Given the description of an element on the screen output the (x, y) to click on. 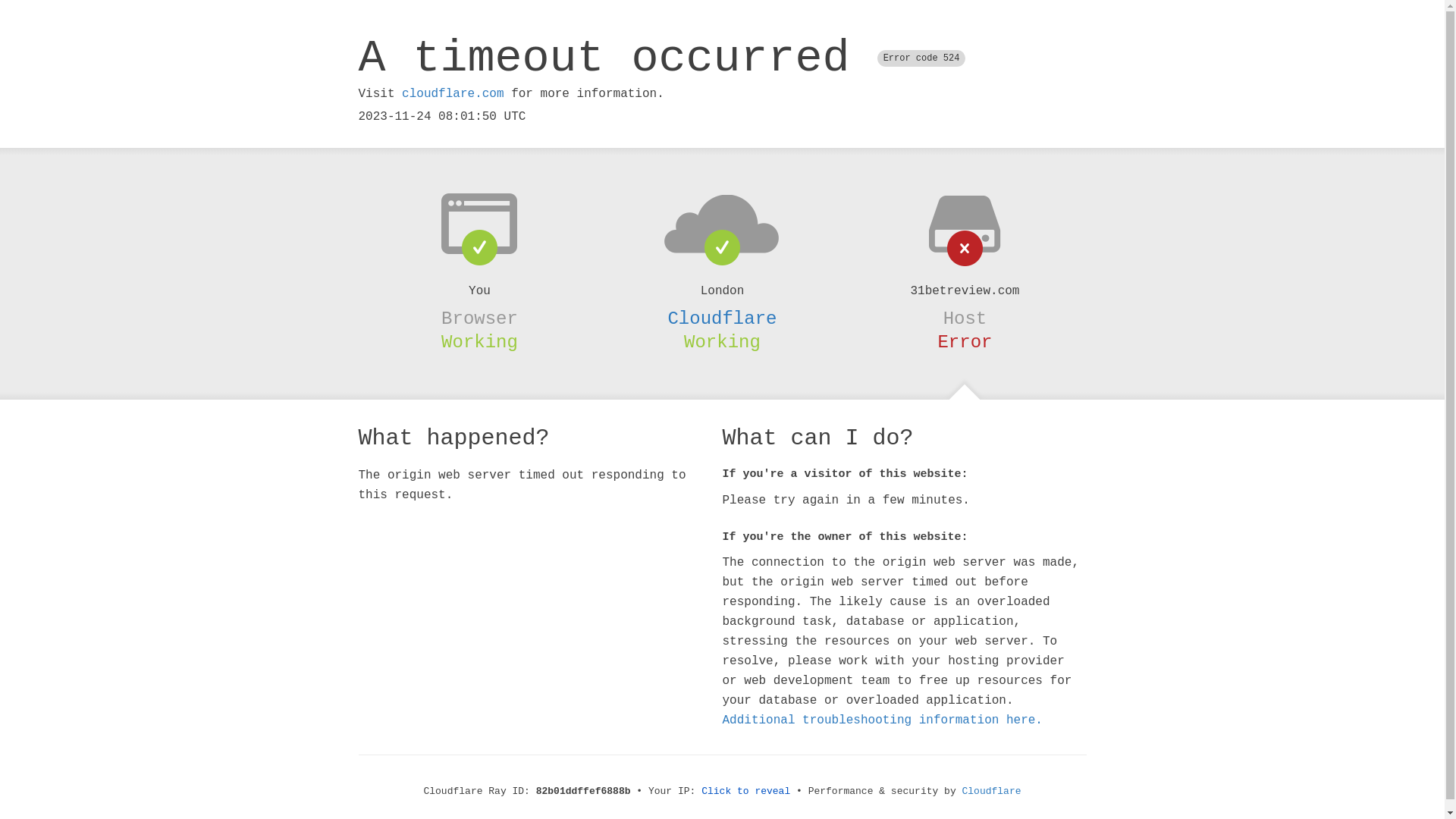
Click to reveal Element type: text (745, 791)
Cloudflare Element type: text (991, 791)
cloudflare.com Element type: text (452, 93)
Additional troubleshooting information here. Element type: text (881, 720)
Cloudflare Element type: text (721, 318)
